Given the description of an element on the screen output the (x, y) to click on. 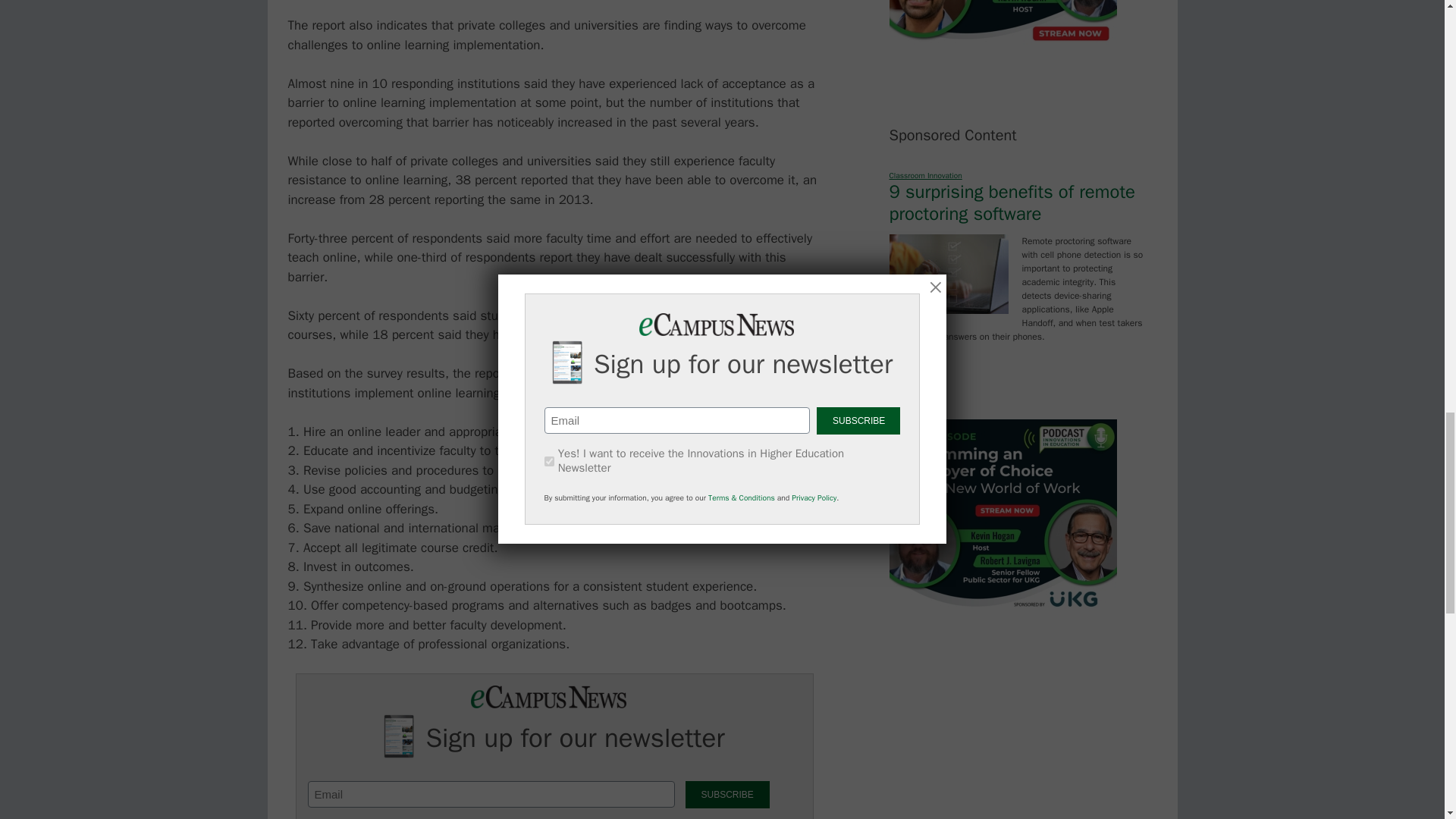
SUBSCRIBE (727, 794)
